Given the description of an element on the screen output the (x, y) to click on. 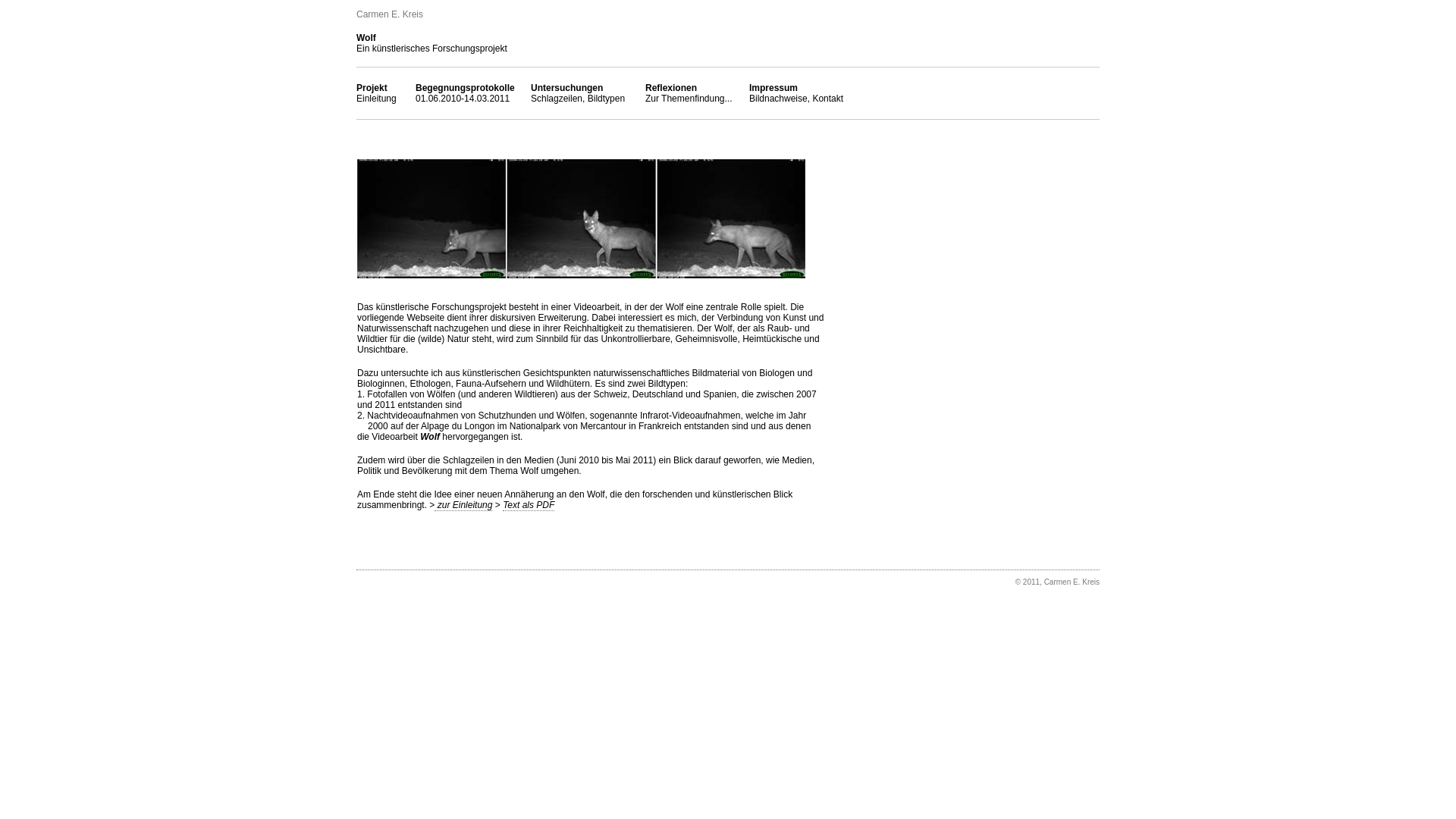
Impressum Element type: text (773, 87)
Text als PDF Element type: text (528, 505)
zur Einleitung Element type: text (463, 505)
Untersuchungen Element type: text (566, 87)
Reflexionen Element type: text (670, 87)
Wolf Element type: text (366, 37)
Projekt Element type: text (371, 87)
Carmen E. Kreis Element type: text (389, 14)
Begegnungsprotokolle Element type: text (464, 87)
Wolf Element type: text (429, 436)
